Given the description of an element on the screen output the (x, y) to click on. 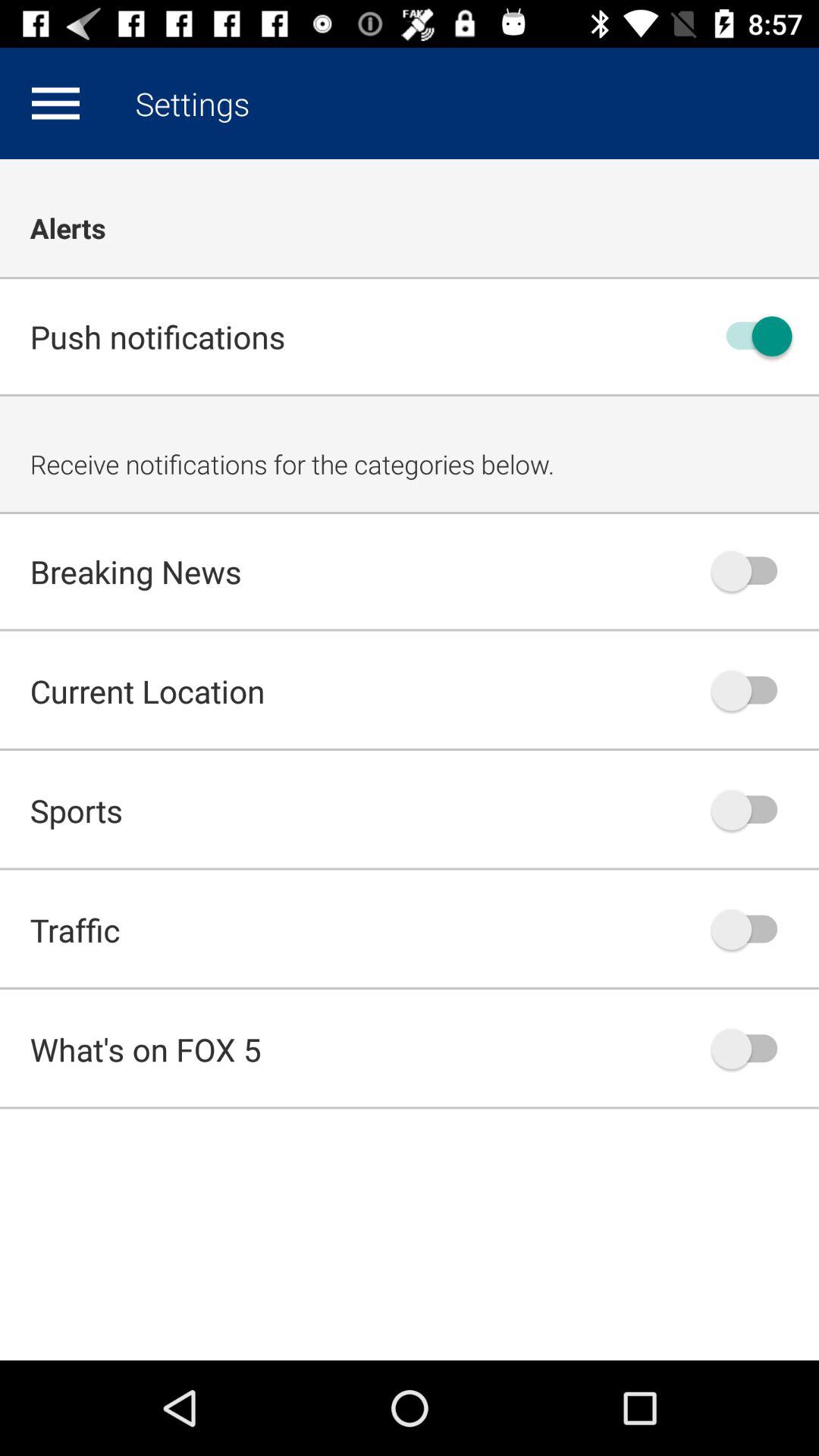
click the item to the left of the settings app (55, 103)
